Given the description of an element on the screen output the (x, y) to click on. 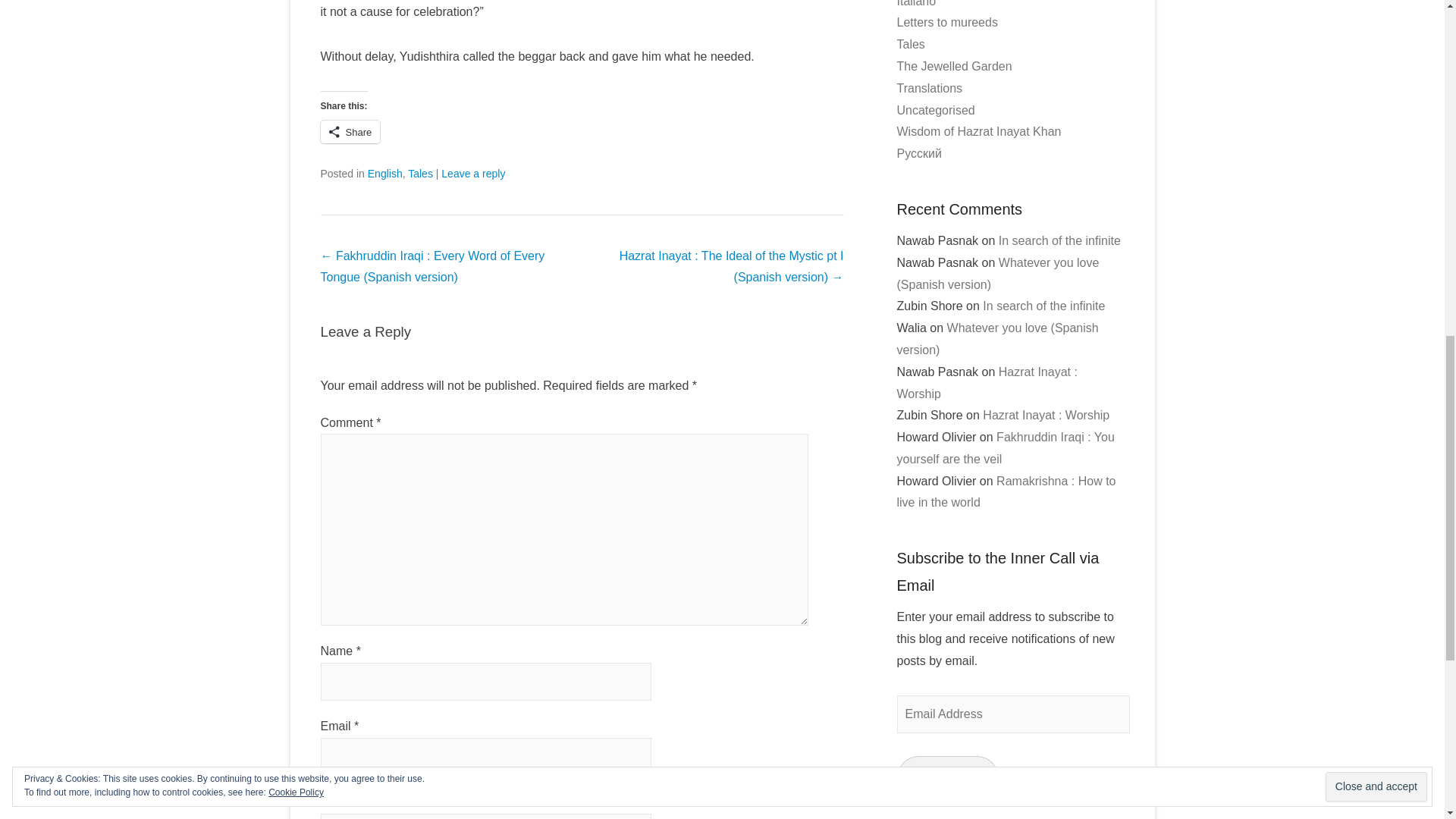
Leave a reply (473, 173)
Tales (419, 173)
Share (350, 131)
English (385, 173)
